Given the description of an element on the screen output the (x, y) to click on. 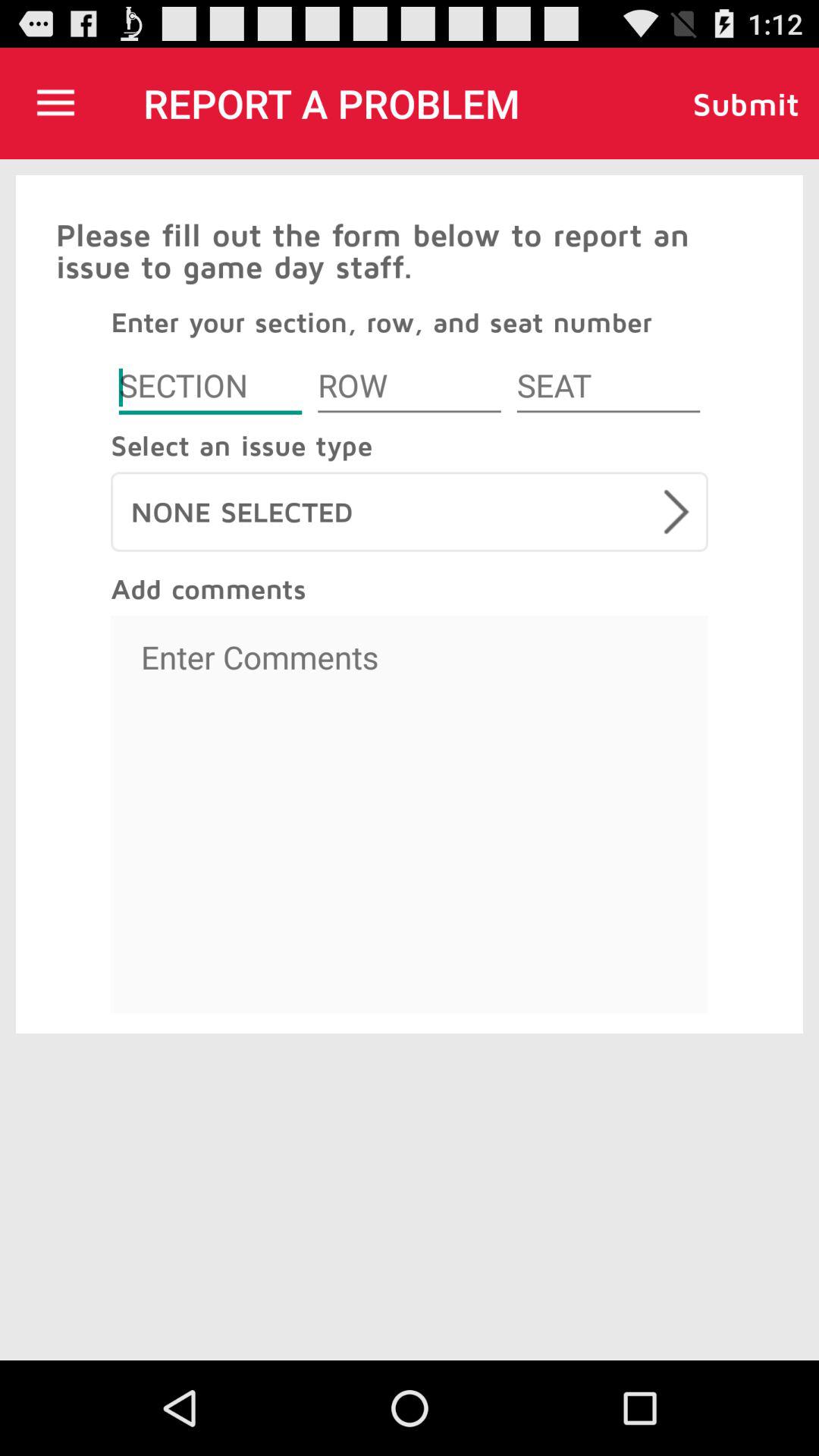
text box (409, 814)
